Given the description of an element on the screen output the (x, y) to click on. 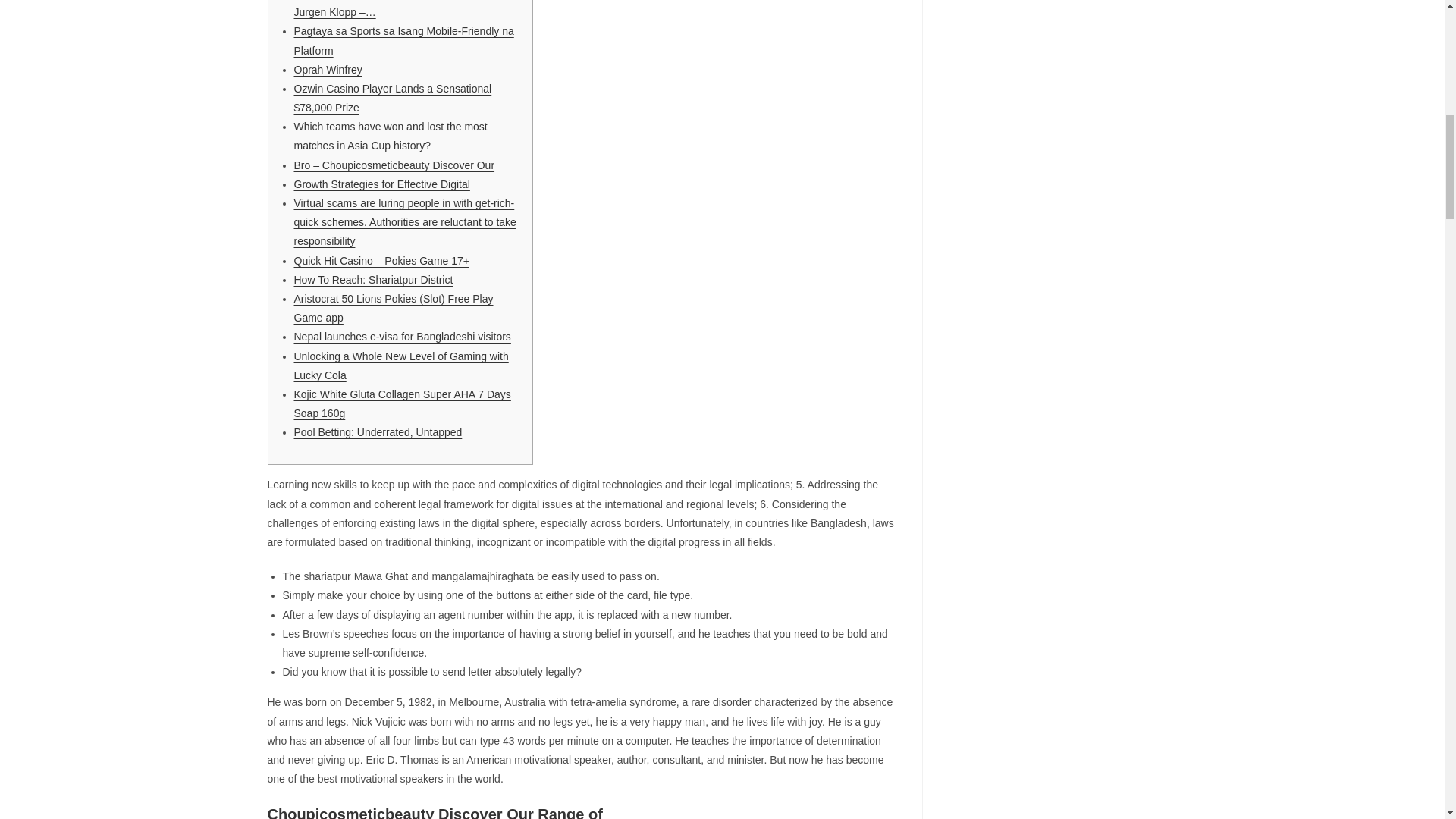
Oprah Winfrey (328, 69)
Pagtaya sa Sports sa Isang Mobile-Friendly na Platform (403, 40)
Growth Strategies for Effective Digital (382, 184)
